Given the description of an element on the screen output the (x, y) to click on. 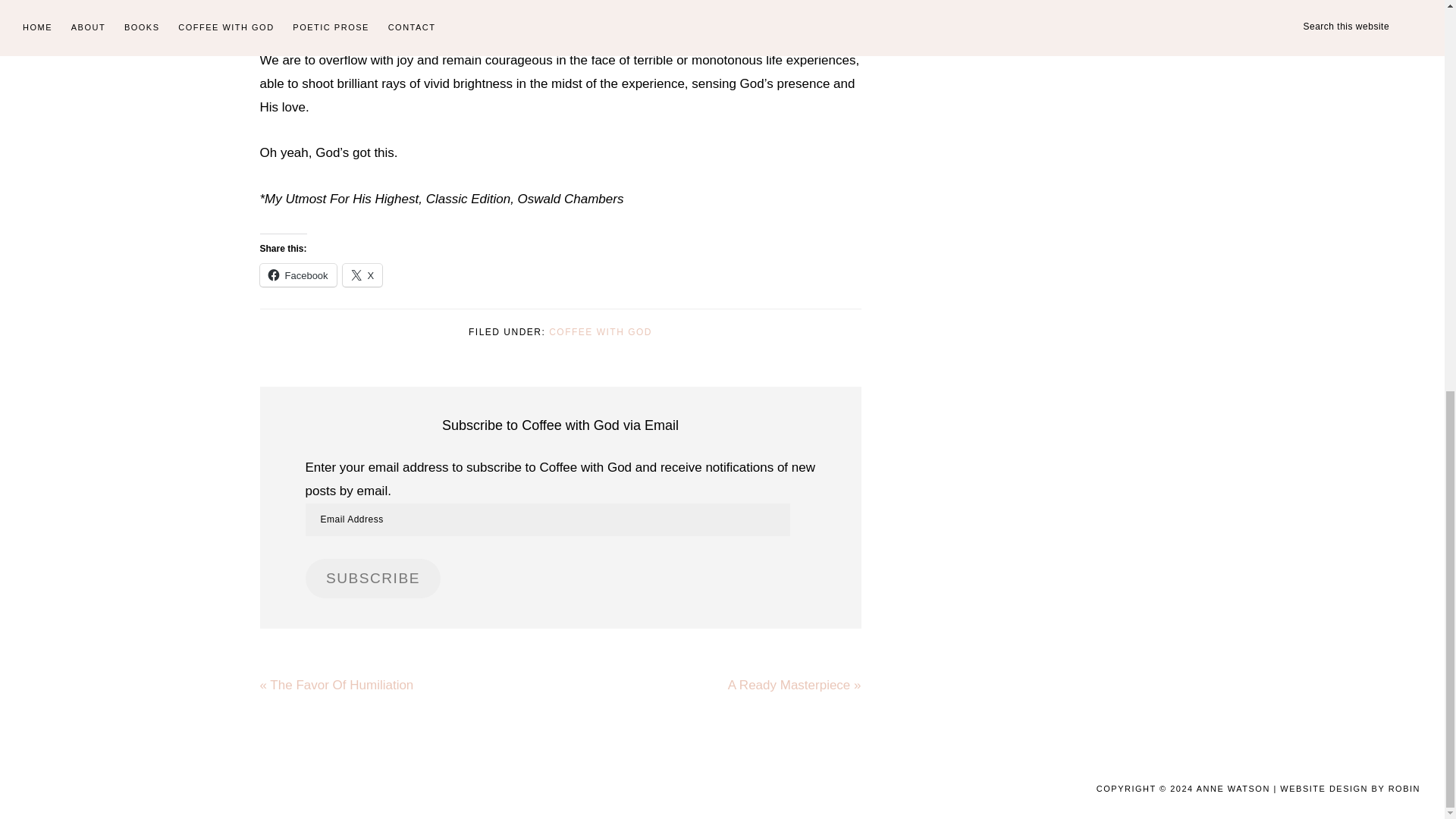
Click to share on X (362, 274)
X (362, 274)
SUBSCRIBE (372, 577)
COFFEE WITH GOD (600, 331)
WEBSITE DESIGN BY ROBIN (1350, 788)
Facebook (297, 274)
Click to share on Facebook (297, 274)
